Given the description of an element on the screen output the (x, y) to click on. 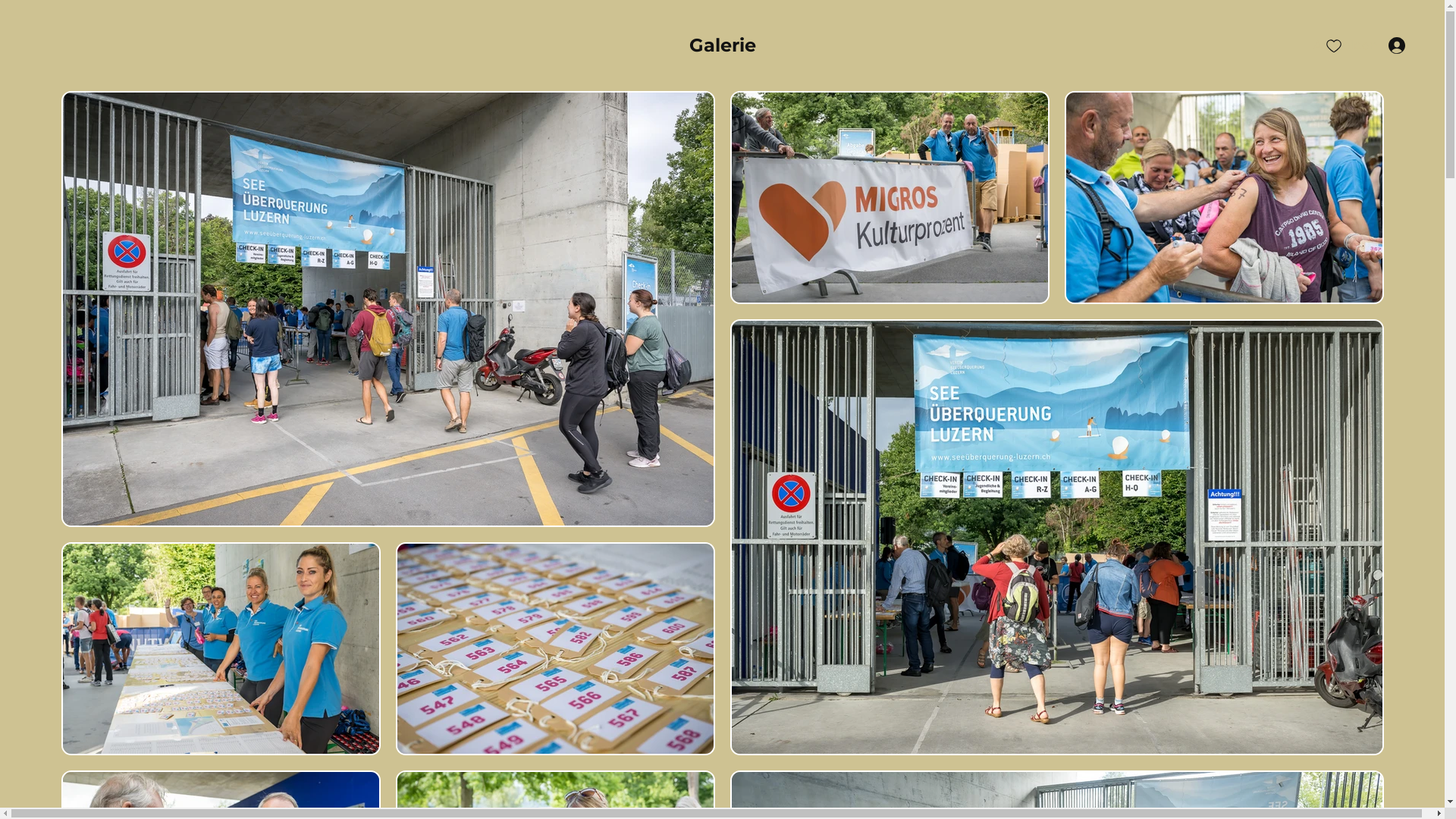
Anmelden Element type: text (1358, 45)
